Given the description of an element on the screen output the (x, y) to click on. 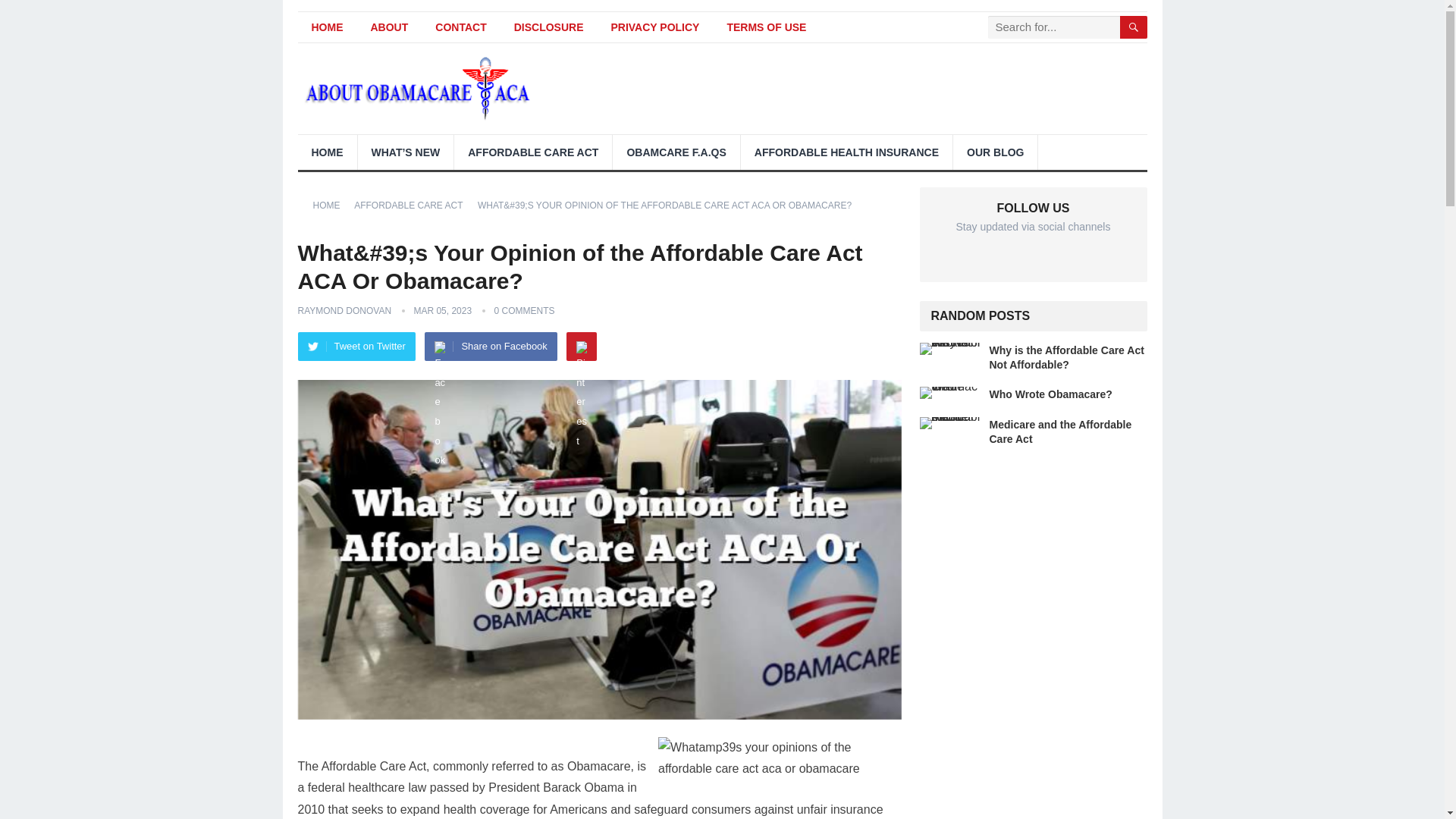
HOME (331, 204)
AFFORDABLE CARE ACT (532, 152)
RAYMOND DONOVAN (344, 310)
Posts by Raymond Donovan (344, 310)
View all posts in Affordable Care Act (413, 204)
Pinterest (581, 346)
ABOUT (389, 27)
DISCLOSURE (548, 27)
AFFORDABLE HEALTH INSURANCE (846, 152)
PRIVACY POLICY (654, 27)
